Given the description of an element on the screen output the (x, y) to click on. 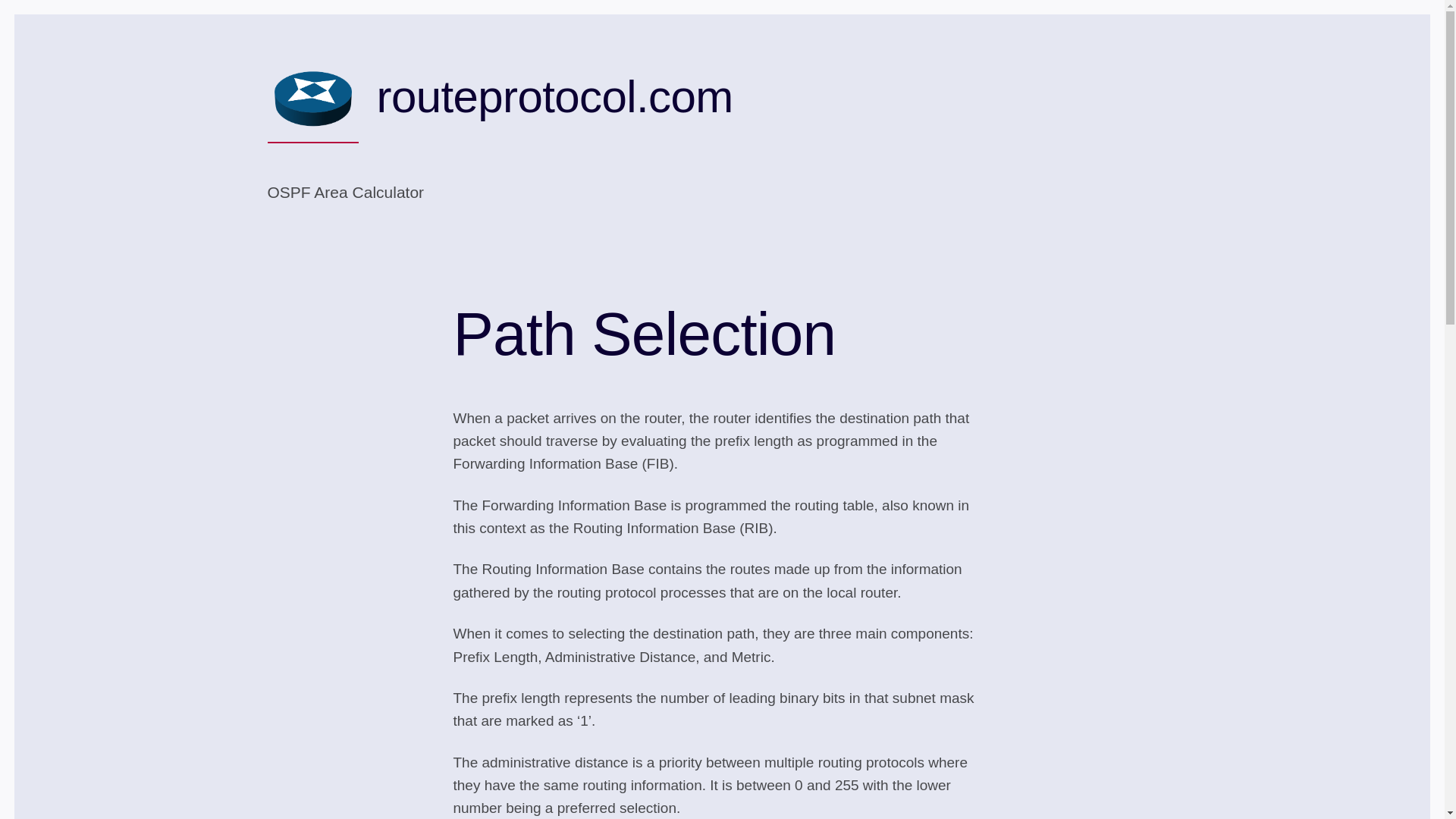
OSPF Area Calculator (344, 193)
